Given the description of an element on the screen output the (x, y) to click on. 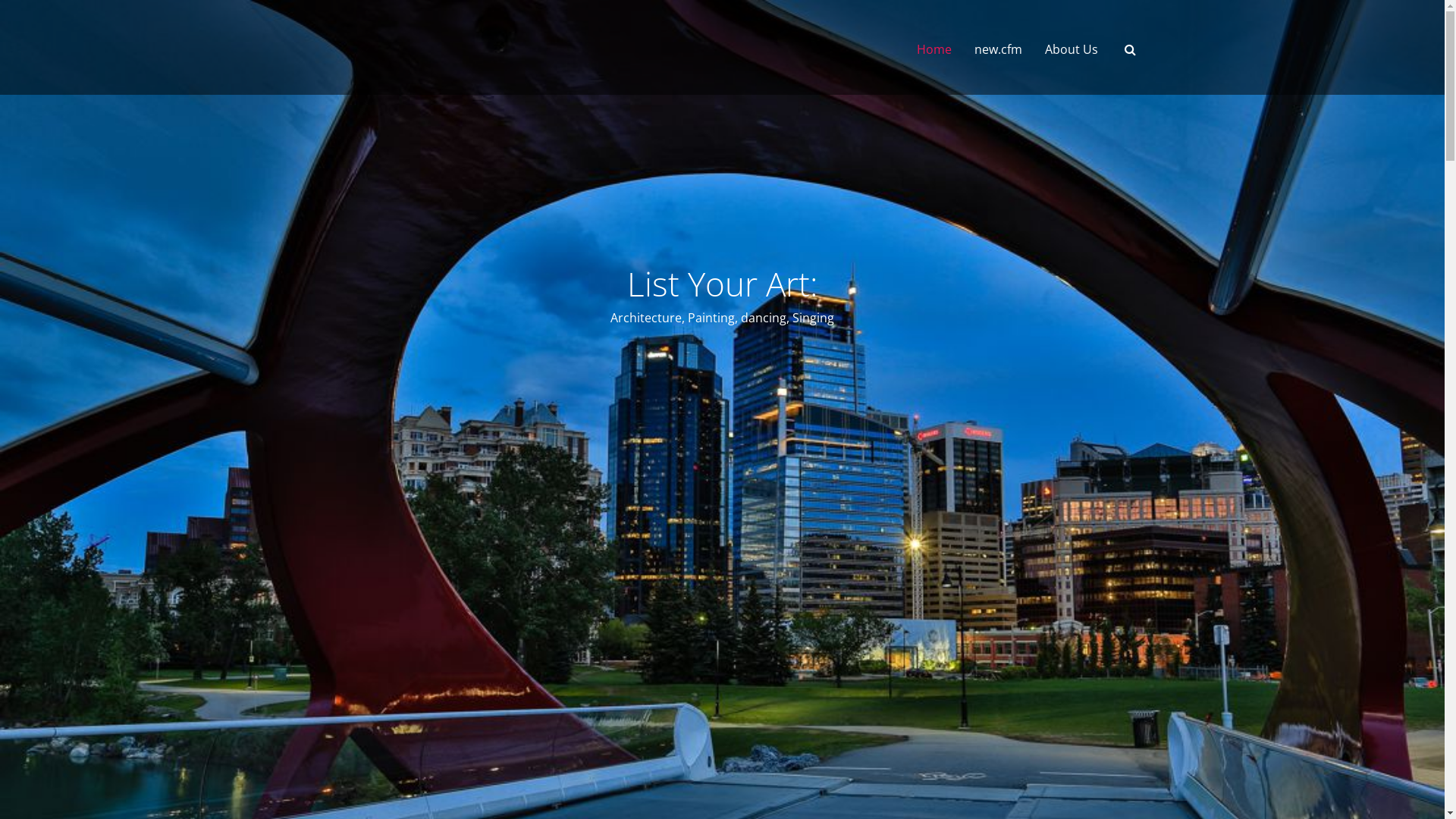
About Us Element type: text (1071, 48)
new.cfm Element type: text (997, 48)
Home Element type: text (933, 48)
